Given the description of an element on the screen output the (x, y) to click on. 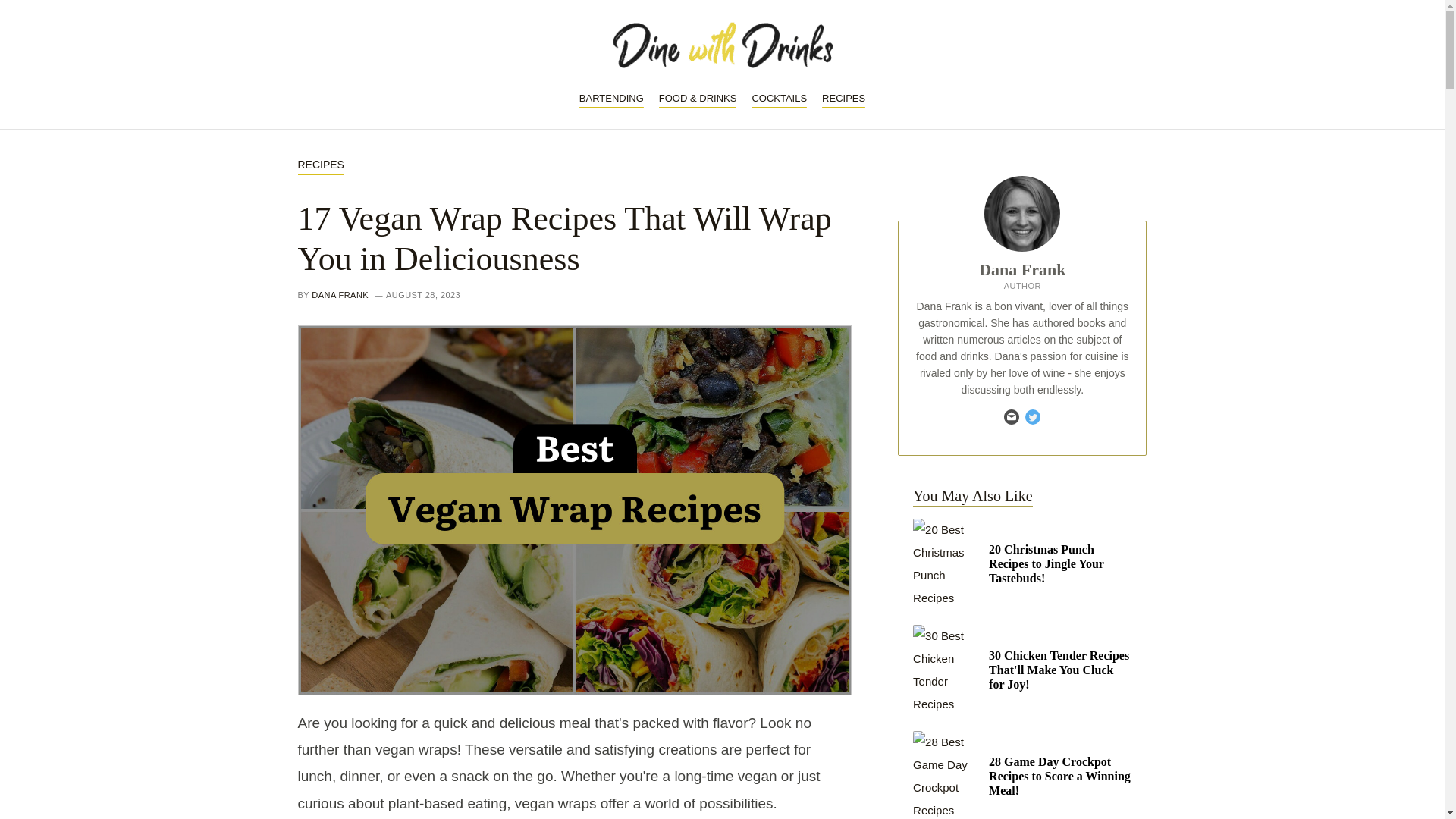
DANA FRANK (339, 294)
BARTENDING (611, 98)
RECIPES (320, 165)
RECIPES (843, 98)
COCKTAILS (778, 98)
